Given the description of an element on the screen output the (x, y) to click on. 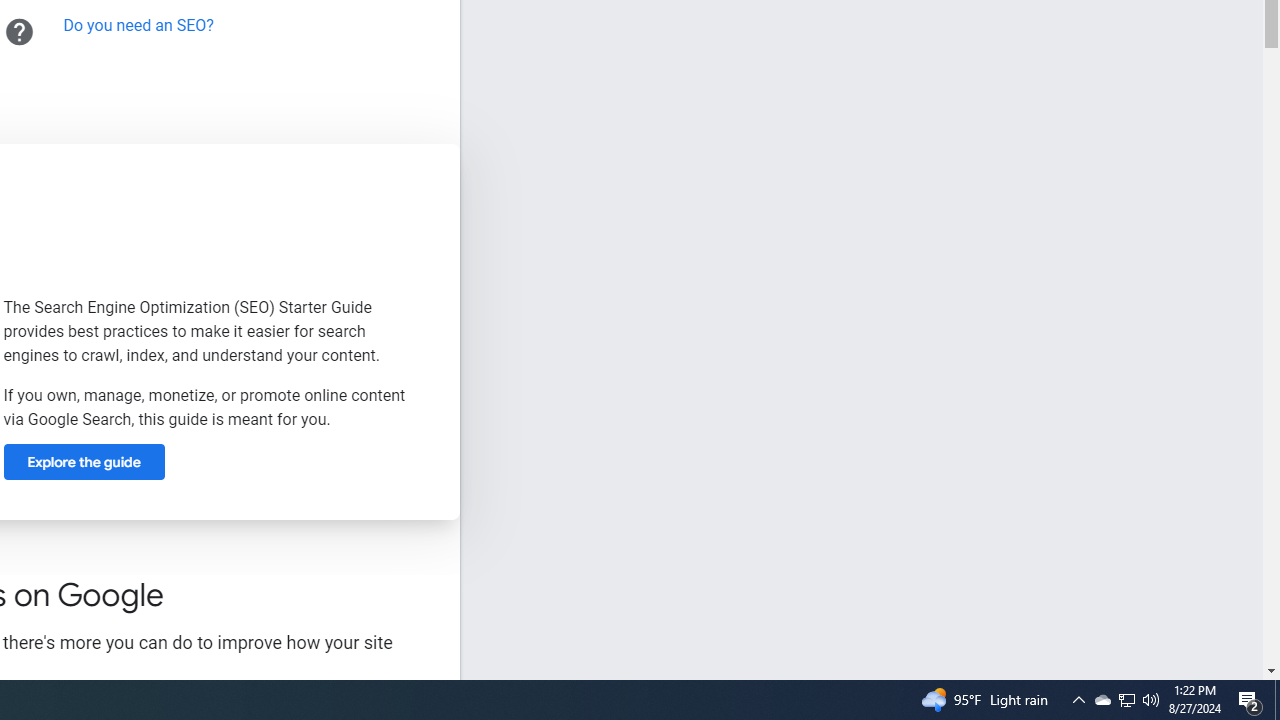
Explore the guide (83, 462)
Do you need an SEO? (137, 25)
